Given the description of an element on the screen output the (x, y) to click on. 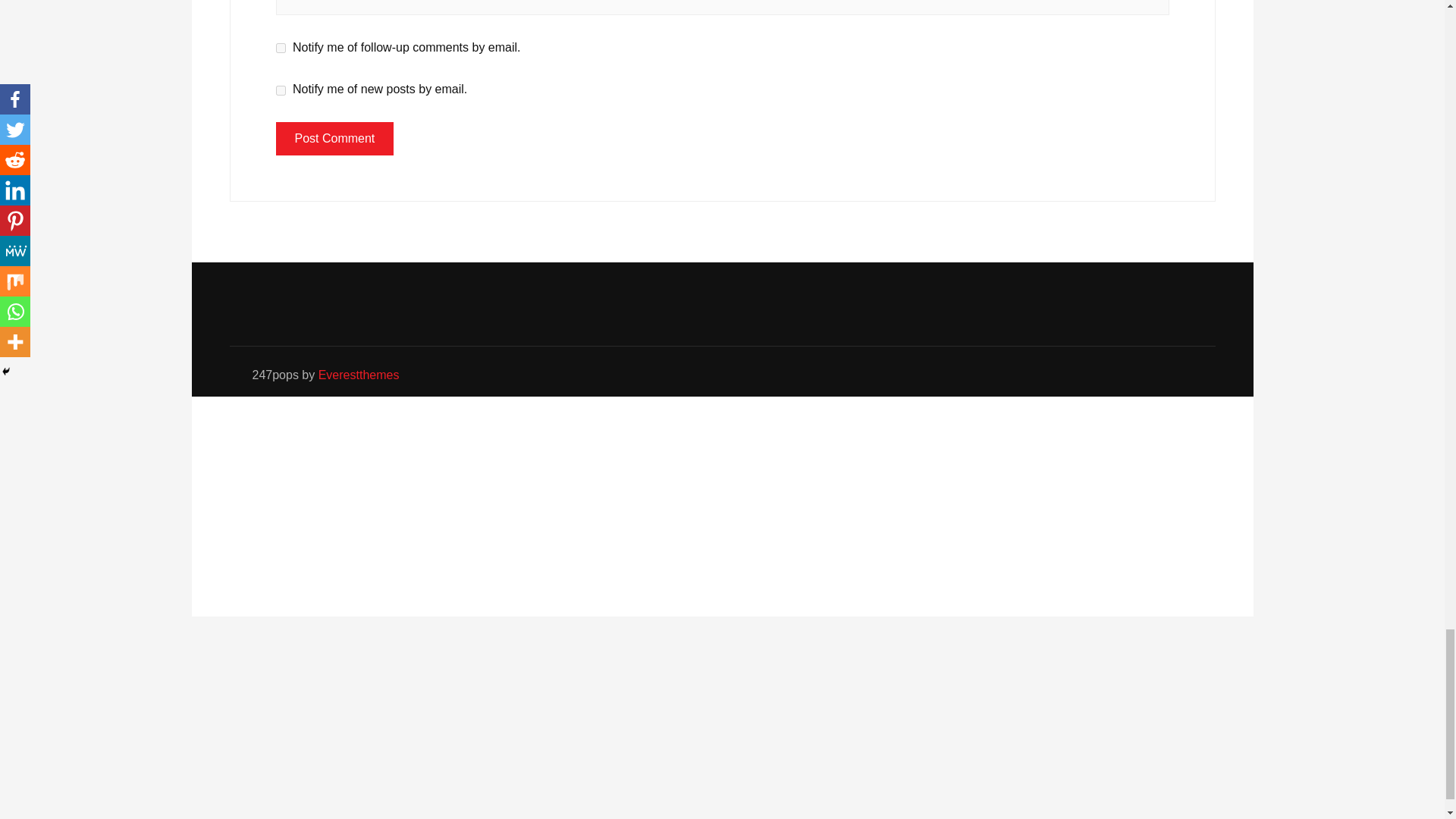
subscribe (280, 48)
subscribe (280, 90)
Post Comment (335, 138)
